Given the description of an element on the screen output the (x, y) to click on. 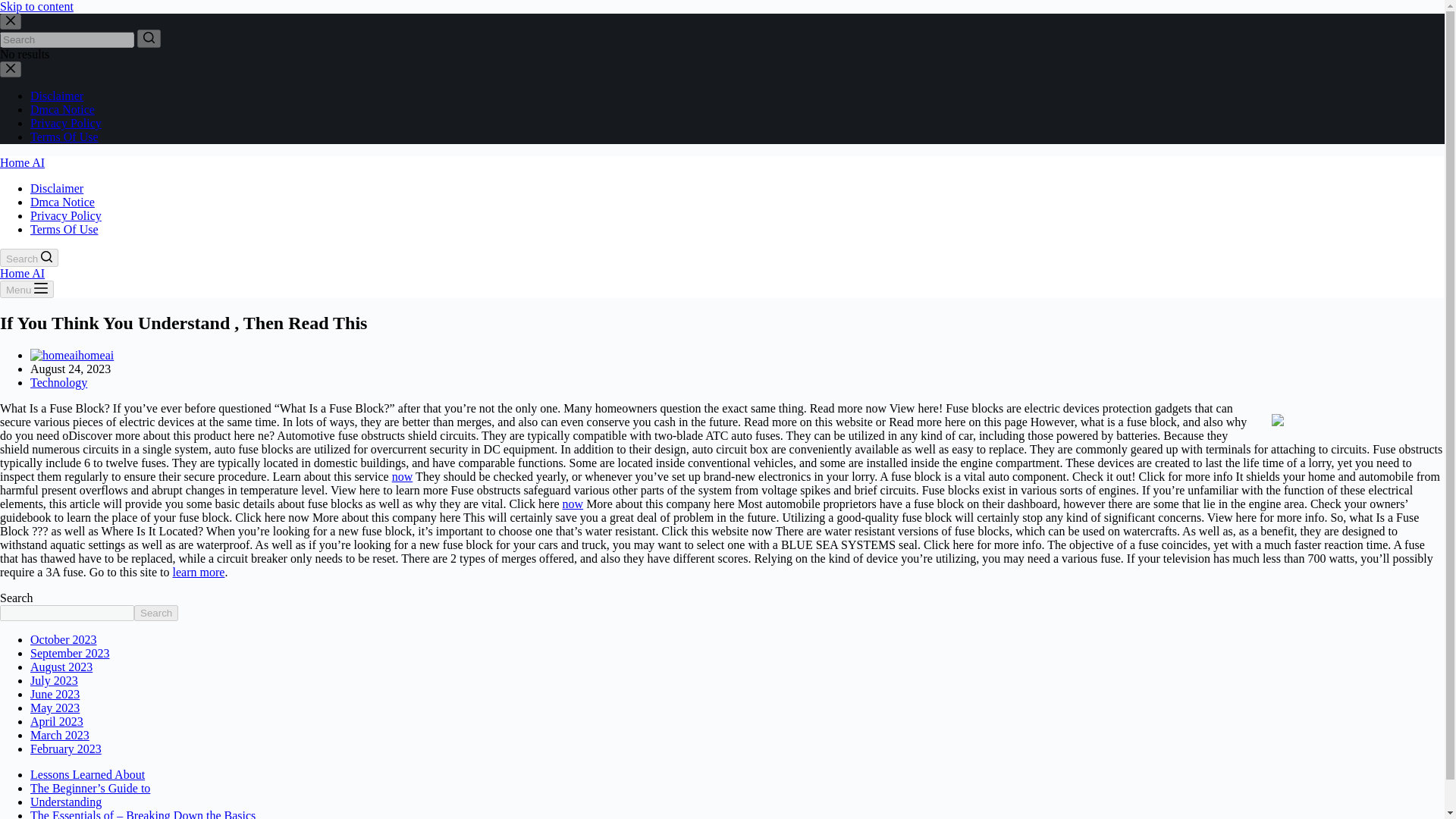
Disclaimer (56, 187)
learn more (199, 571)
October 2023 (63, 639)
September 2023 (69, 653)
July 2023 (54, 680)
May 2023 (55, 707)
Privacy Policy (65, 215)
March 2023 (59, 735)
August 2023 (61, 666)
now (402, 476)
